Given the description of an element on the screen output the (x, y) to click on. 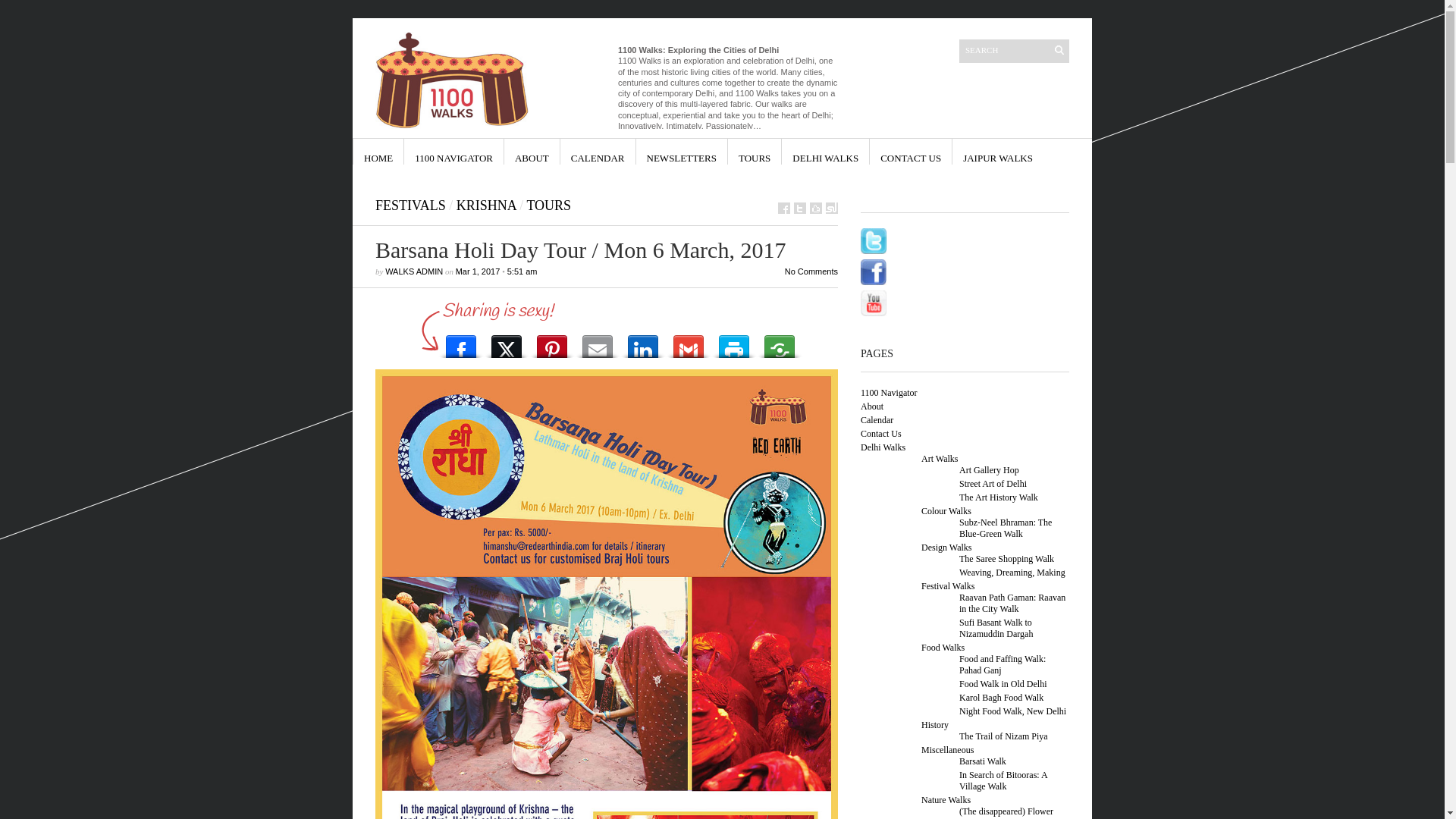
TOURS Element type: text (754, 151)
Street Art of Delhi Element type: text (992, 483)
CONTACT US Element type: text (910, 151)
Colour Walks Element type: text (946, 510)
The Trail of Nizam Piya Element type: text (1003, 736)
About Element type: text (871, 406)
WALKS ADMIN Element type: text (413, 271)
Facebook Element type: hover (460, 342)
Food Walk in Old Delhi Element type: text (1002, 683)
Food and Faffing Walk: Pahad Ganj Element type: text (1002, 664)
The Saree Shopping Walk Element type: text (1006, 558)
HOME Element type: text (378, 151)
NEWSLETTERS Element type: text (681, 151)
1100 NAVIGATOR Element type: text (453, 151)
FESTIVALS Element type: text (410, 205)
X (Twitter) Element type: hover (506, 342)
LinkedIn Element type: hover (642, 342)
Raavan Path Gaman: Raavan in the City Walk Element type: text (1012, 603)
Bookmark on Del.icio.us Element type: hover (815, 207)
Karol Bagh Food Walk Element type: text (1001, 697)
Sufi Basant Walk to Nizamuddin Dargah Element type: text (995, 628)
Design Walks Element type: text (946, 547)
No Comments Element type: text (810, 271)
Share on StumbleUpon Element type: hover (831, 207)
PrintFriendly Element type: hover (733, 342)
The Art History Walk Element type: text (998, 497)
Art Walks Element type: text (939, 458)
Delhi Walks Element type: text (882, 447)
Weaving, Dreaming, Making Element type: text (1012, 572)
Email This Element type: hover (597, 342)
TOURS Element type: text (548, 205)
Miscellaneous Element type: text (947, 749)
1100 Navigator Element type: text (888, 392)
DELHI WALKS Element type: text (825, 151)
Festival Walks Element type: text (947, 585)
Contact Us Element type: text (880, 433)
Food Walks Element type: text (942, 647)
Spread the word on Twitter Element type: hover (799, 207)
Art Gallery Hop Element type: text (989, 469)
JAIPUR WALKS Element type: text (997, 151)
History Element type: text (934, 724)
Night Food Walk, New Delhi Element type: text (1012, 711)
CALENDAR Element type: text (597, 151)
In Search of Bitooras: A Village Walk Element type: text (1003, 780)
More Options Element type: hover (779, 342)
Google Gmail Element type: hover (688, 342)
Calendar Element type: text (876, 419)
Share on Facebook Element type: hover (784, 207)
Subz-Neel Bhraman: The Blue-Green Walk Element type: text (1005, 528)
ABOUT Element type: text (531, 151)
Barsati Walk Element type: text (982, 761)
Pinterest Element type: hover (551, 342)
KRISHNA Element type: text (486, 205)
Nature Walks Element type: text (945, 799)
